Given the description of an element on the screen output the (x, y) to click on. 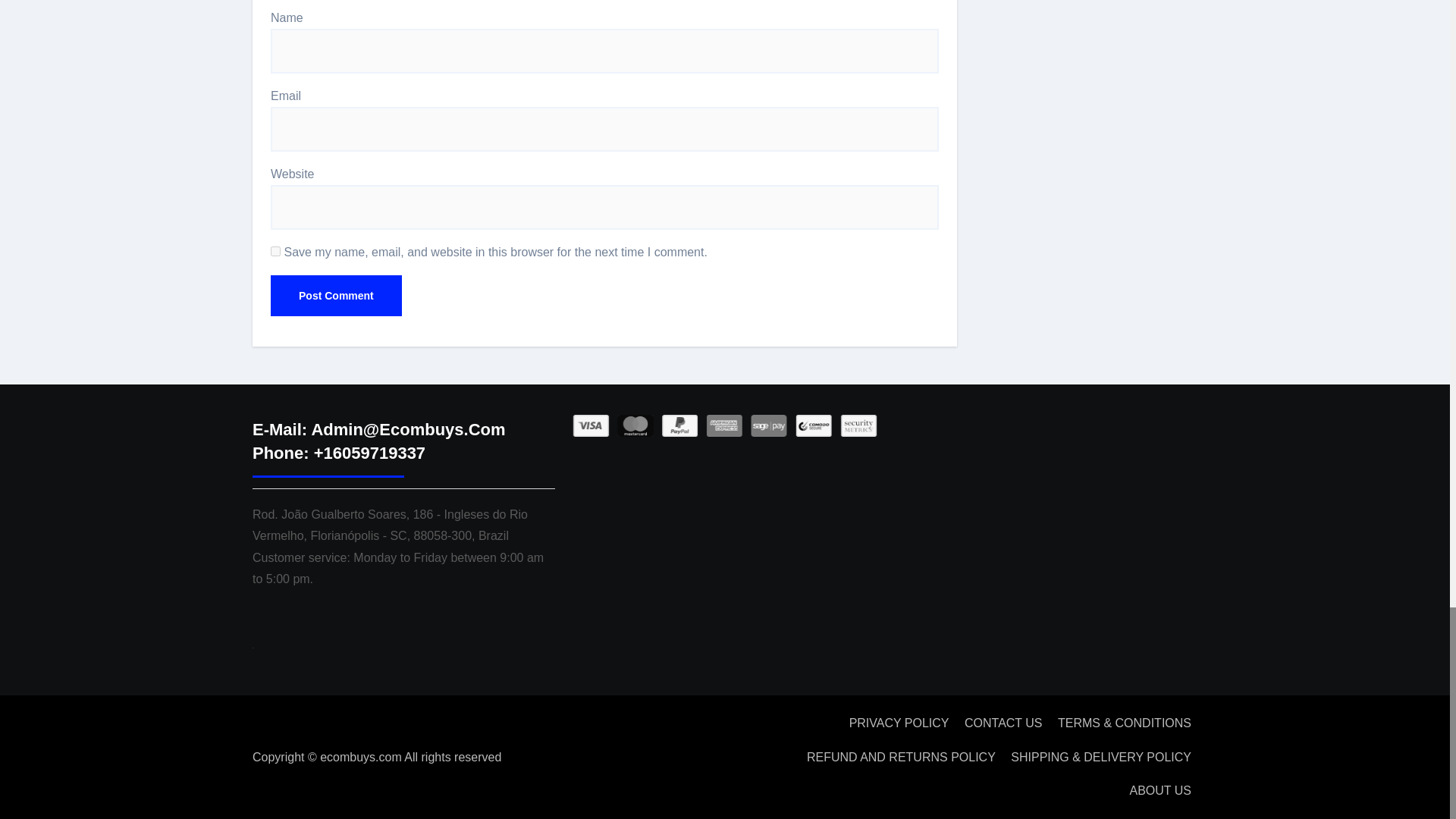
yes (275, 251)
Post Comment (335, 295)
PRIVACY POLICY (899, 723)
REFUND AND RETURNS POLICY (900, 757)
CONTACT US (1003, 723)
